Given the description of an element on the screen output the (x, y) to click on. 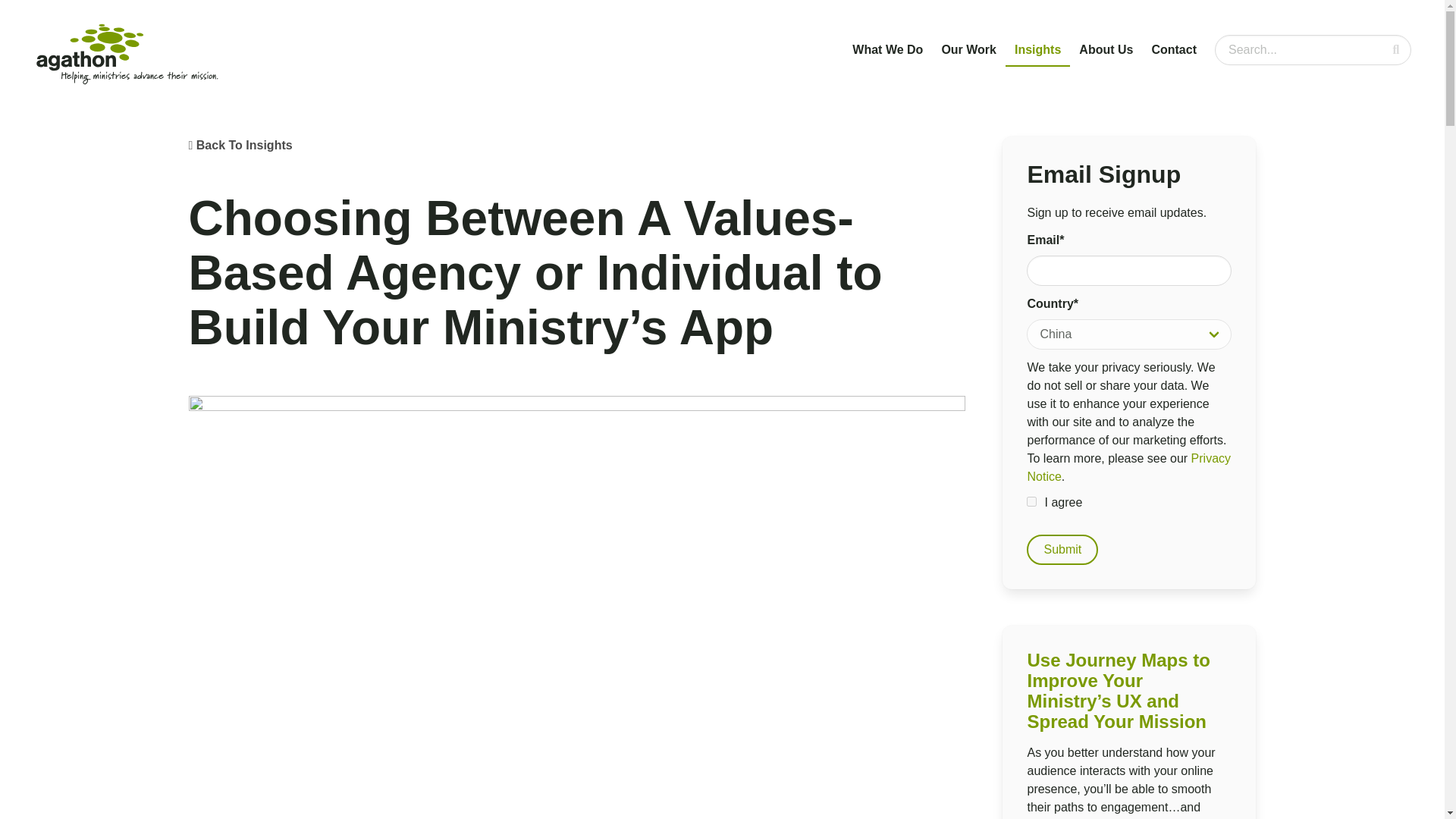
What We Do (887, 50)
Insights (1038, 50)
Contact (1173, 50)
Privacy Notice (1128, 467)
About Us (1105, 50)
1 (1031, 501)
Back To Insights (244, 144)
Submit (1061, 549)
Submit (1061, 549)
